Given the description of an element on the screen output the (x, y) to click on. 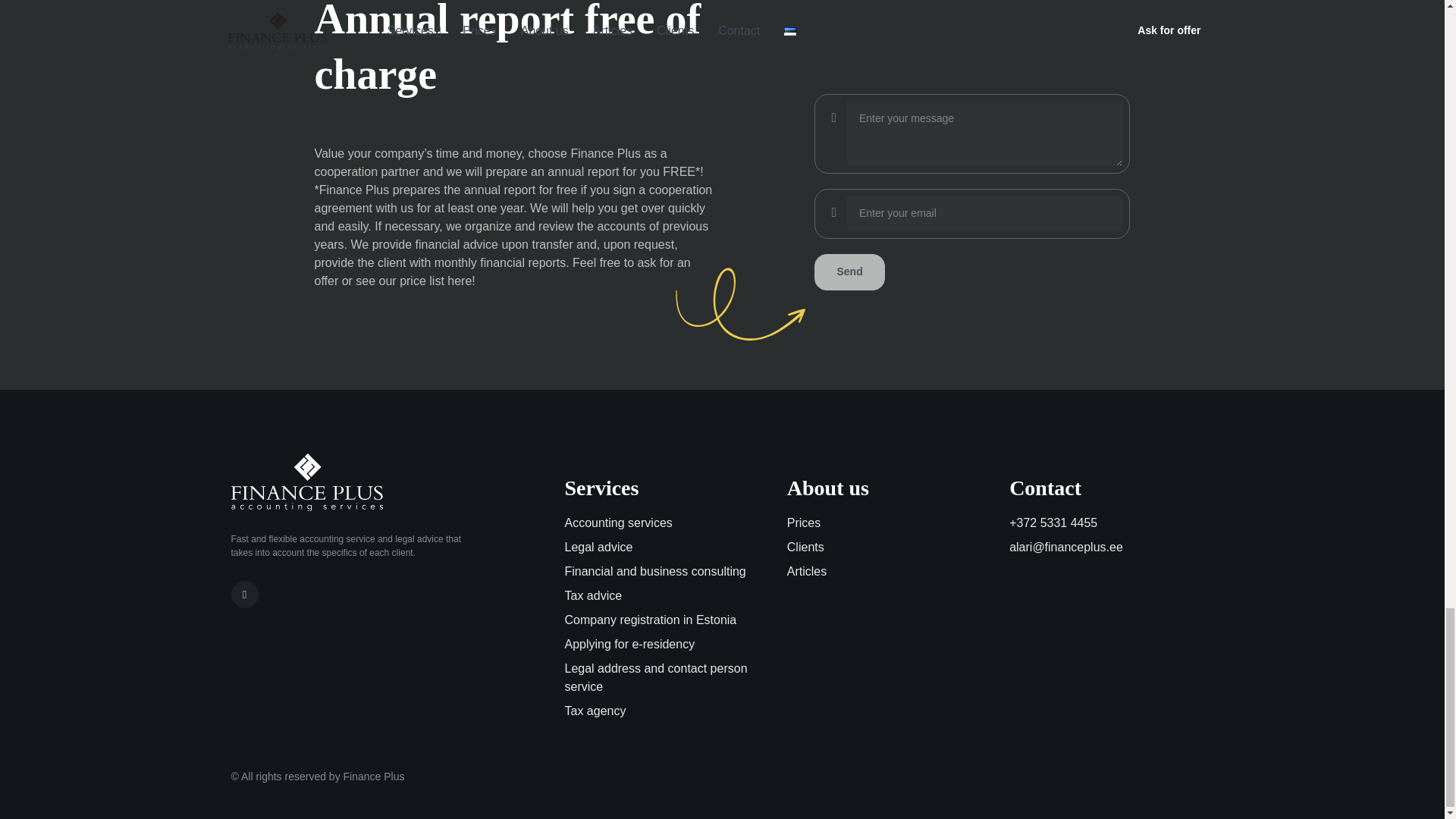
Finance Plus (305, 482)
Accounting services (666, 523)
Facebook (243, 594)
Tax advice (666, 596)
Financial and business consulting (666, 571)
Send (848, 271)
Company registration in Estonia (666, 619)
Send (848, 271)
Legal advice (666, 547)
